Given the description of an element on the screen output the (x, y) to click on. 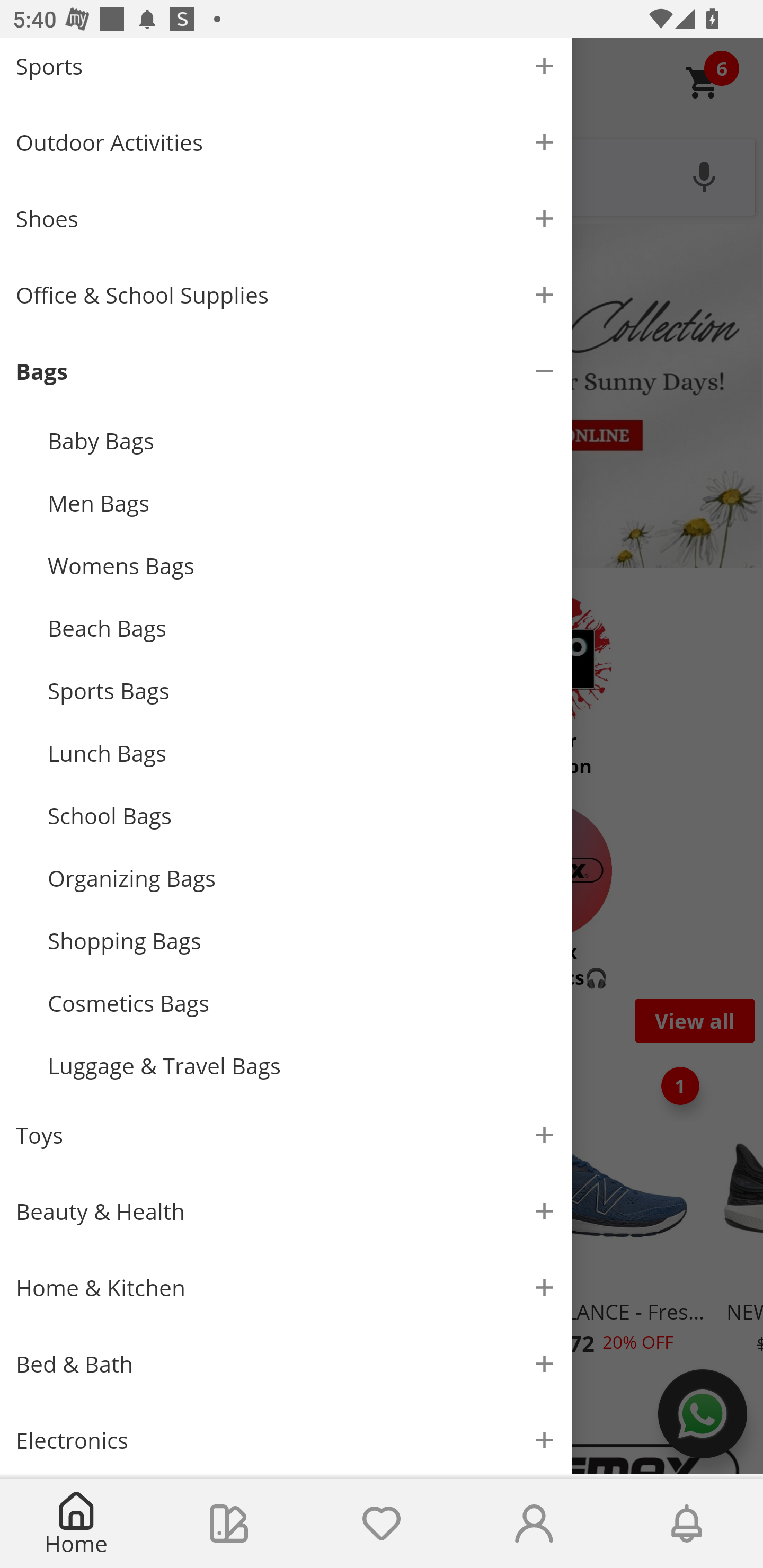
Sports (286, 71)
Outdoor Activities (286, 142)
Shoes (286, 218)
Office & School Supplies (286, 294)
Baby Bags (302, 440)
Men Bags (302, 502)
Womens Bags (302, 565)
Beach Bags (302, 628)
Sports Bags (302, 690)
Lunch Bags (302, 752)
School Bags (302, 815)
Organizing Bags (302, 877)
Shopping Bags (302, 940)
Cosmetics Bags (302, 1003)
Luggage & Travel Bags (302, 1065)
Toys (286, 1134)
Beauty & Health (286, 1210)
Home & Kitchen (286, 1287)
Bed & Bath (286, 1363)
Electronics (286, 1437)
Collections (228, 1523)
Wishlist (381, 1523)
Account (533, 1523)
Notifications (686, 1523)
